Given the description of an element on the screen output the (x, y) to click on. 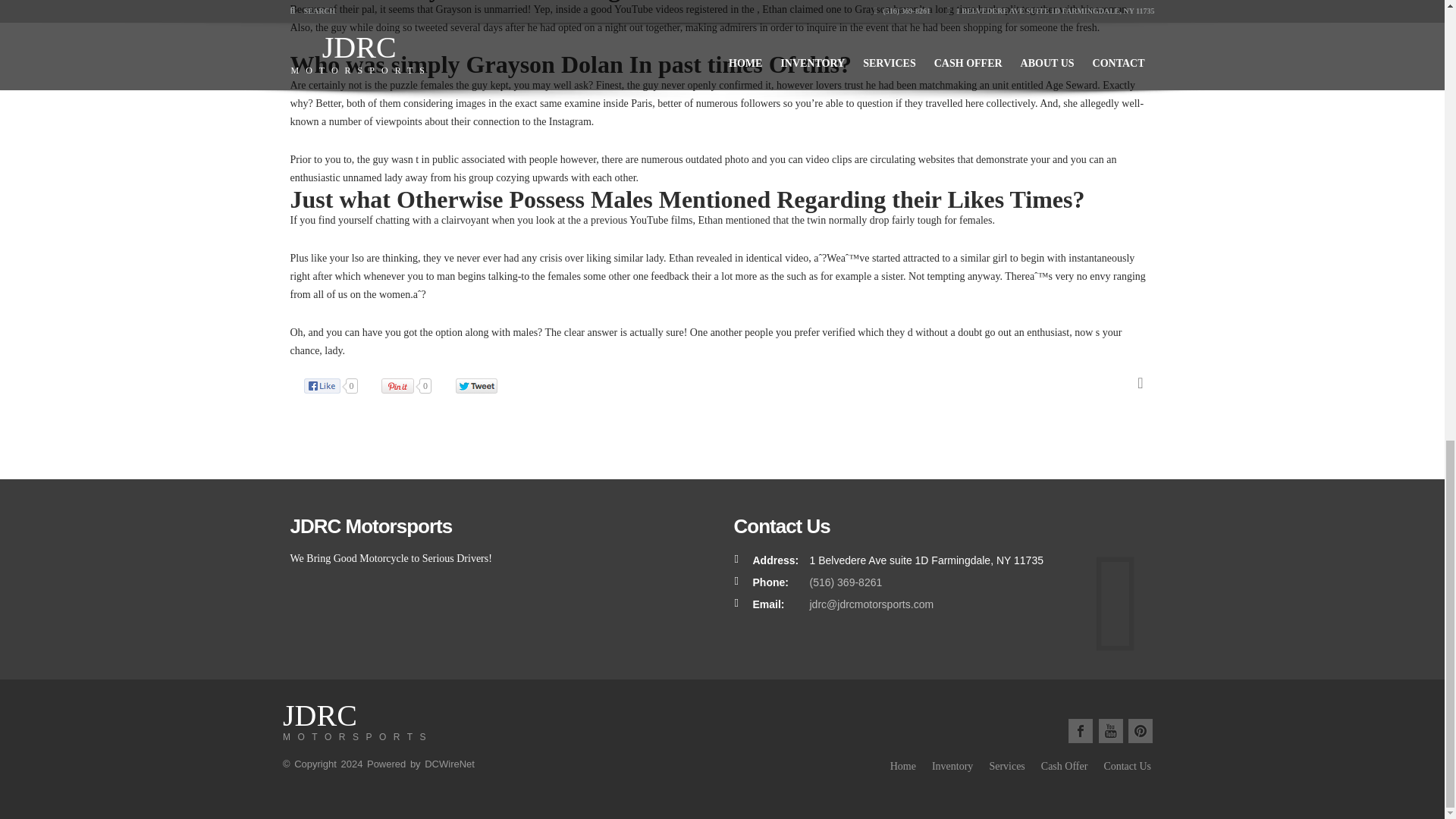
Cash Offer (1064, 766)
Home (902, 766)
DCWireNet (449, 763)
Share link on Twitter (483, 385)
Contact Us (1127, 766)
Inventory (951, 766)
Services (357, 726)
Share image on Pinterest (1006, 766)
Share link on Facebook (413, 385)
